Given the description of an element on the screen output the (x, y) to click on. 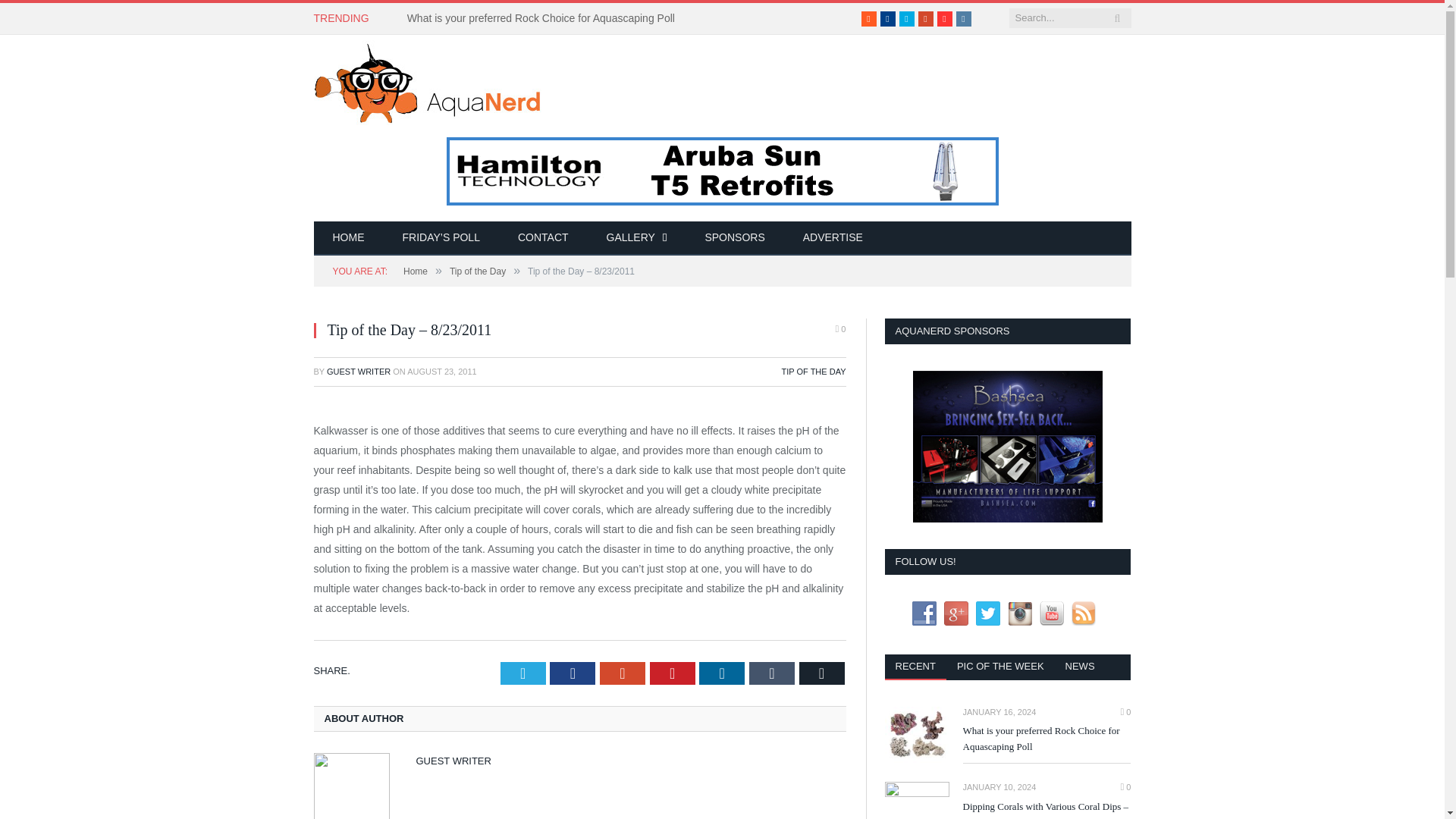
Facebook (887, 18)
Facebook (572, 672)
CONTACT (543, 238)
Facebook (887, 18)
GALLERY (636, 238)
Twitter (906, 18)
GUEST WRITER (358, 370)
ADVERTISE (833, 238)
YouTube (944, 18)
Twitter (906, 18)
RSS (868, 18)
Tip of the Day (477, 271)
Twitter (523, 672)
YouTube (944, 18)
Instagram (963, 18)
